Given the description of an element on the screen output the (x, y) to click on. 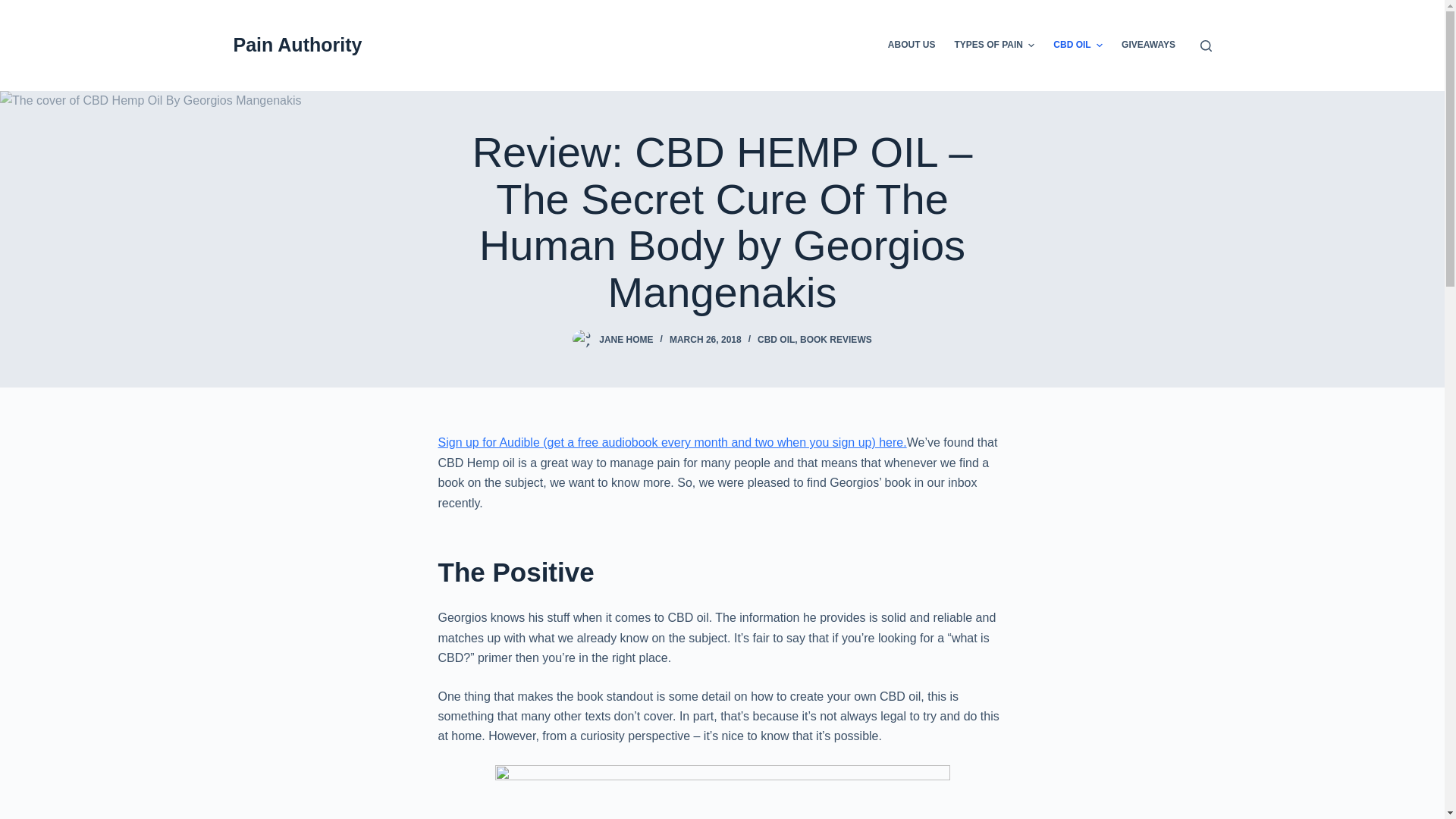
BOOK REVIEWS (835, 339)
Pain Authority (297, 44)
Posts by Jane Home (625, 339)
Skip to content (15, 7)
JANE HOME (625, 339)
TYPES OF PAIN (993, 45)
CBD OIL (775, 339)
